Given the description of an element on the screen output the (x, y) to click on. 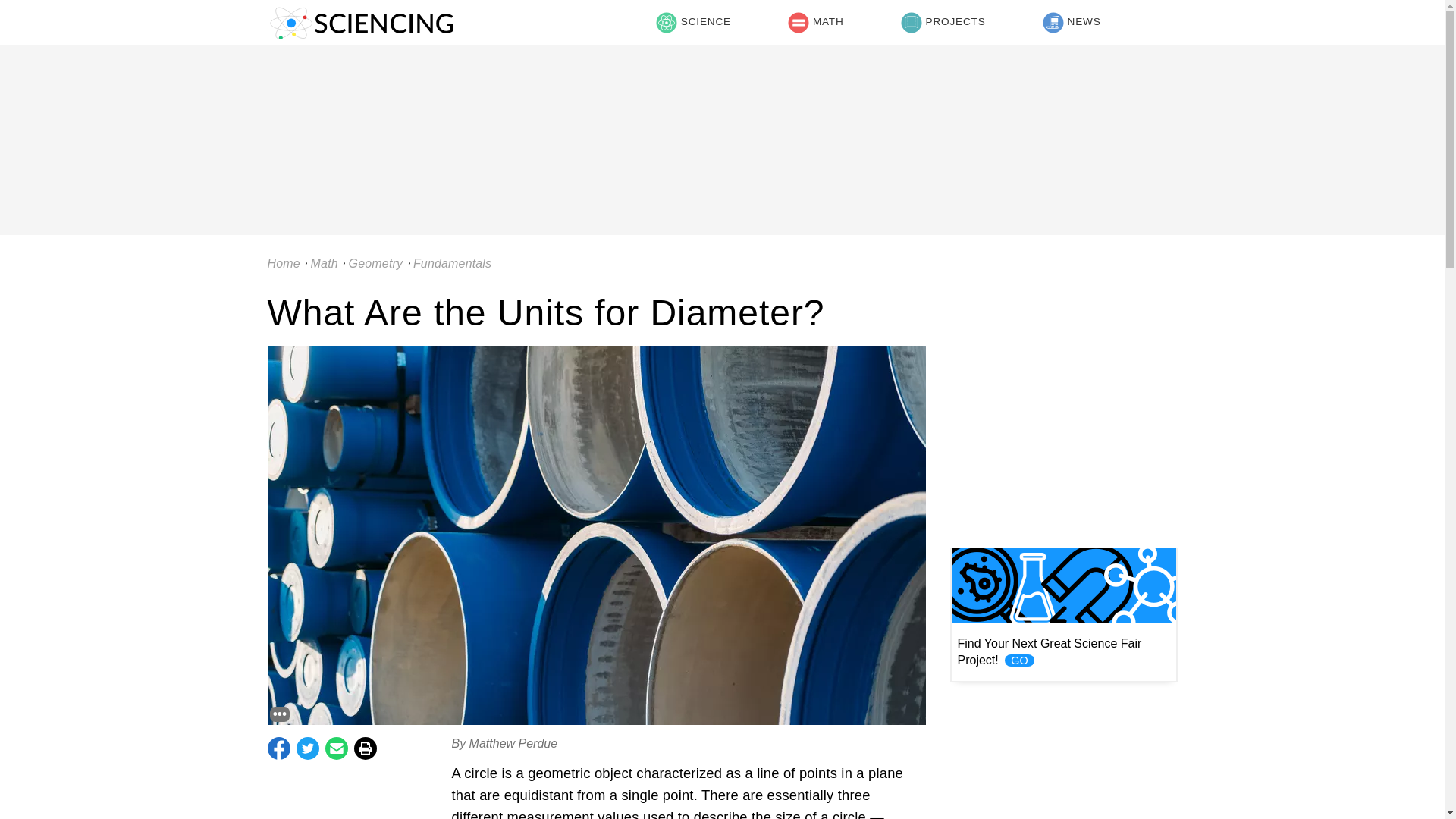
SCIENCE (692, 22)
MATH (814, 22)
